Given the description of an element on the screen output the (x, y) to click on. 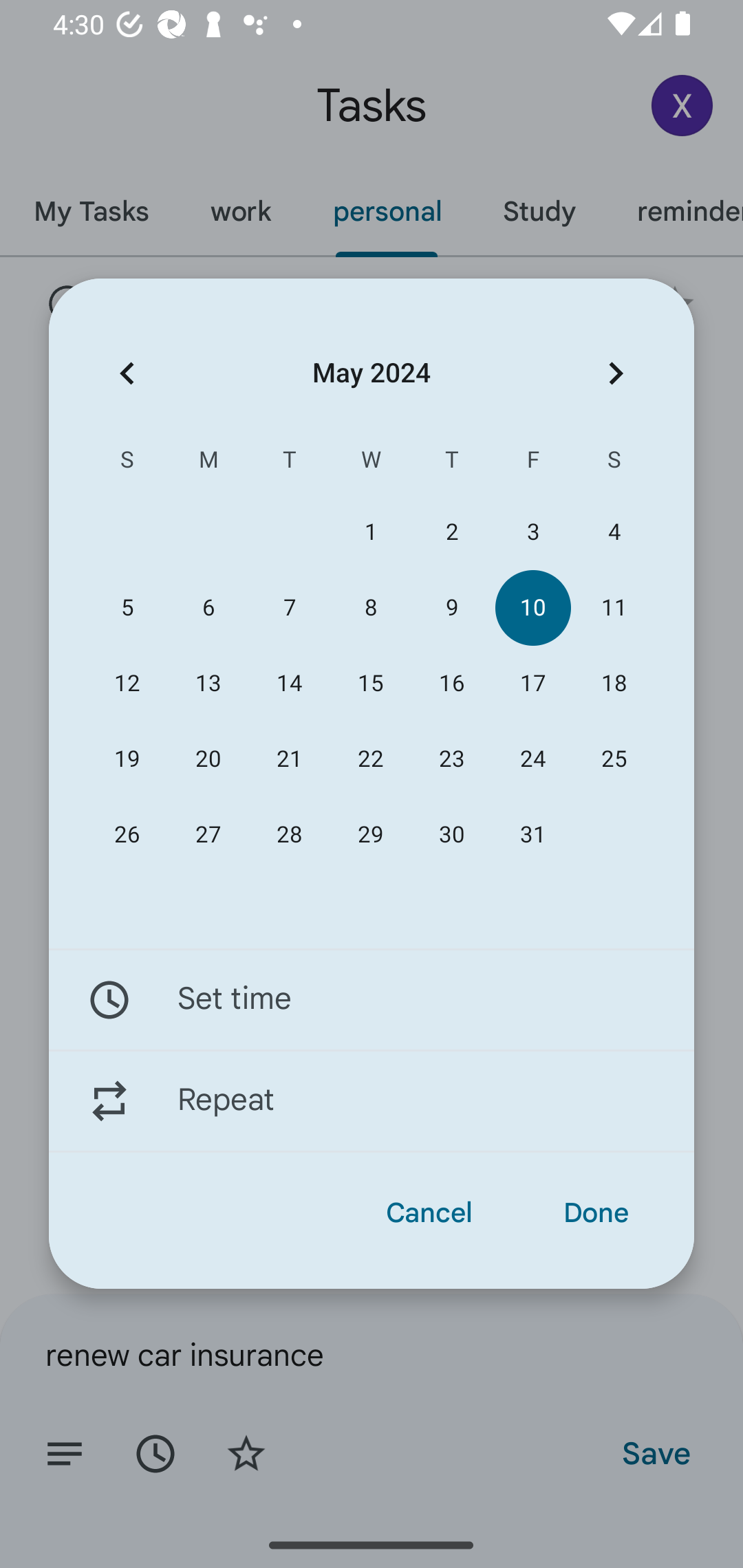
Previous month (126, 372)
Next month (615, 372)
1 01 May 2024 (370, 531)
2 02 May 2024 (451, 531)
3 03 May 2024 (532, 531)
4 04 May 2024 (613, 531)
5 05 May 2024 (126, 608)
6 06 May 2024 (207, 608)
7 07 May 2024 (288, 608)
8 08 May 2024 (370, 608)
9 09 May 2024 (451, 608)
10 10 May 2024 (532, 608)
11 11 May 2024 (613, 608)
12 12 May 2024 (126, 683)
13 13 May 2024 (207, 683)
14 14 May 2024 (288, 683)
15 15 May 2024 (370, 683)
16 16 May 2024 (451, 683)
17 17 May 2024 (532, 683)
18 18 May 2024 (613, 683)
19 19 May 2024 (126, 758)
20 20 May 2024 (207, 758)
21 21 May 2024 (288, 758)
22 22 May 2024 (370, 758)
23 23 May 2024 (451, 758)
24 24 May 2024 (532, 758)
25 25 May 2024 (613, 758)
26 26 May 2024 (126, 834)
27 27 May 2024 (207, 834)
28 28 May 2024 (288, 834)
29 29 May 2024 (370, 834)
30 30 May 2024 (451, 834)
31 31 May 2024 (532, 834)
Set time (371, 999)
Repeat (371, 1101)
Cancel (429, 1213)
Done (595, 1213)
